Given the description of an element on the screen output the (x, y) to click on. 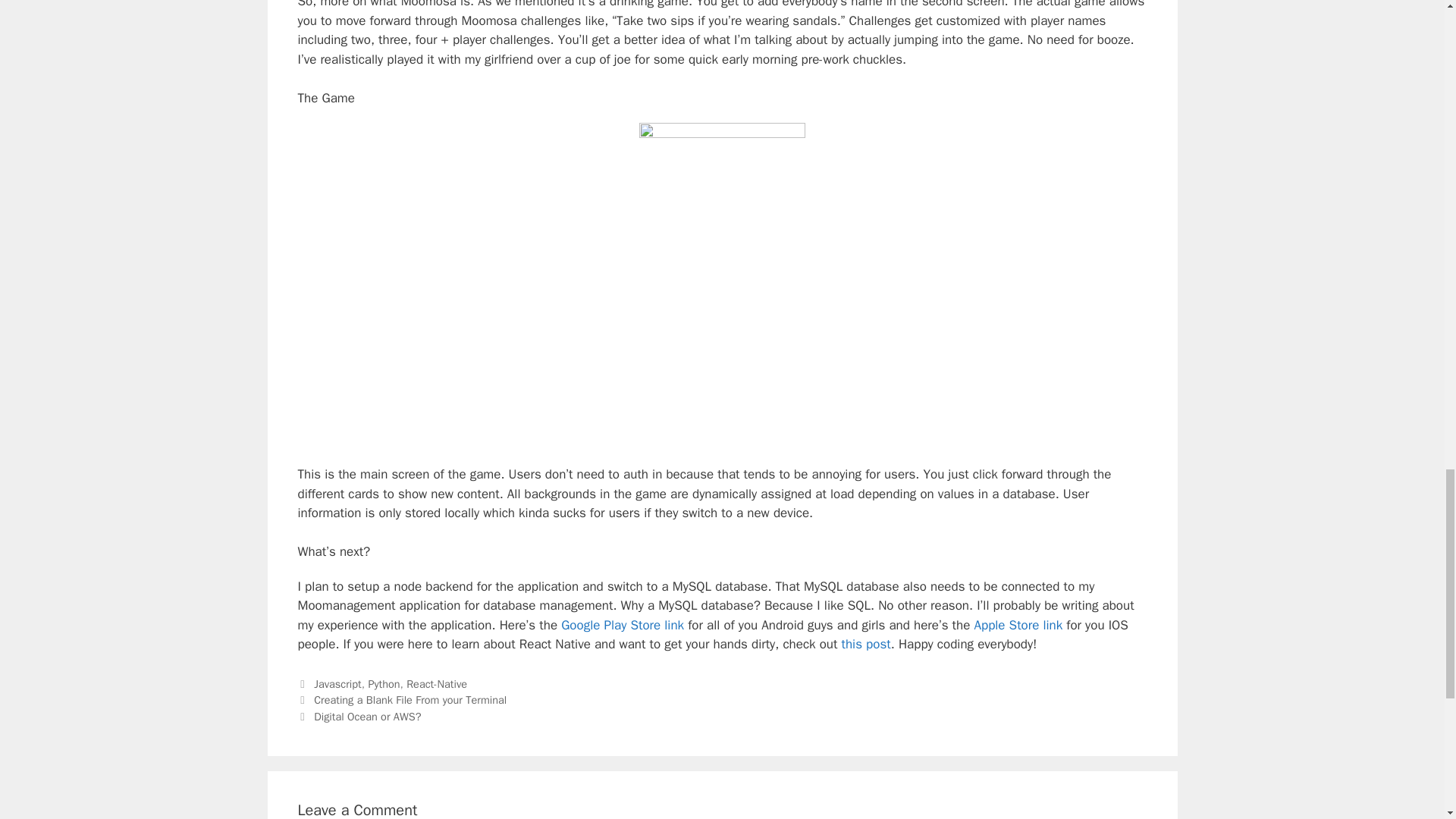
Python (383, 684)
Google Play Store link (622, 625)
Digital Ocean or AWS? (367, 716)
Javascript (337, 684)
Previous (401, 699)
Next (358, 716)
Apple Store link (1018, 625)
Creating a Blank File From your Terminal (410, 699)
this post (866, 643)
React-Native (436, 684)
